Given the description of an element on the screen output the (x, y) to click on. 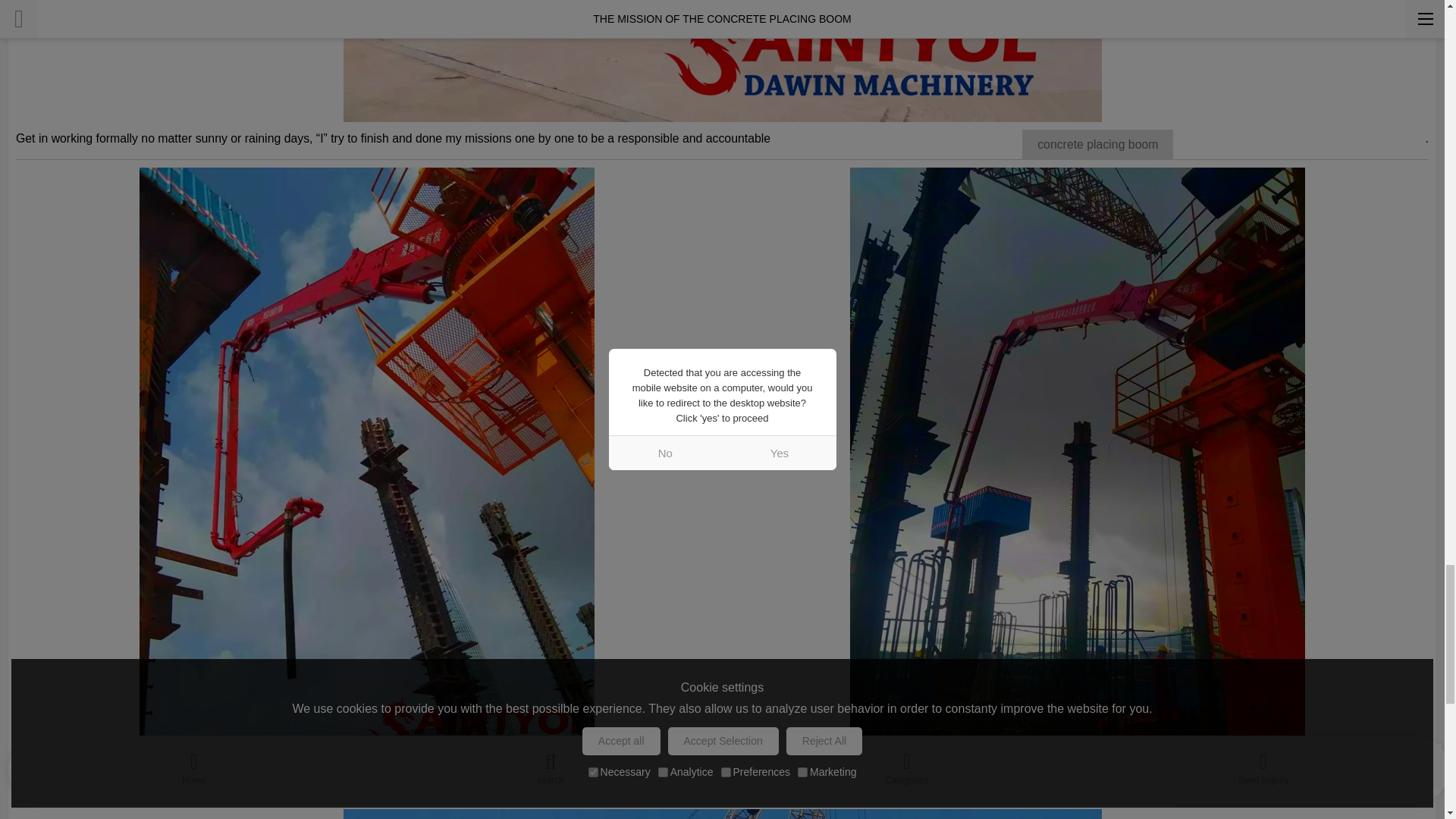
concrete placing boom (1097, 144)
concrete placing boom shipped to workshops (721, 61)
